Given the description of an element on the screen output the (x, y) to click on. 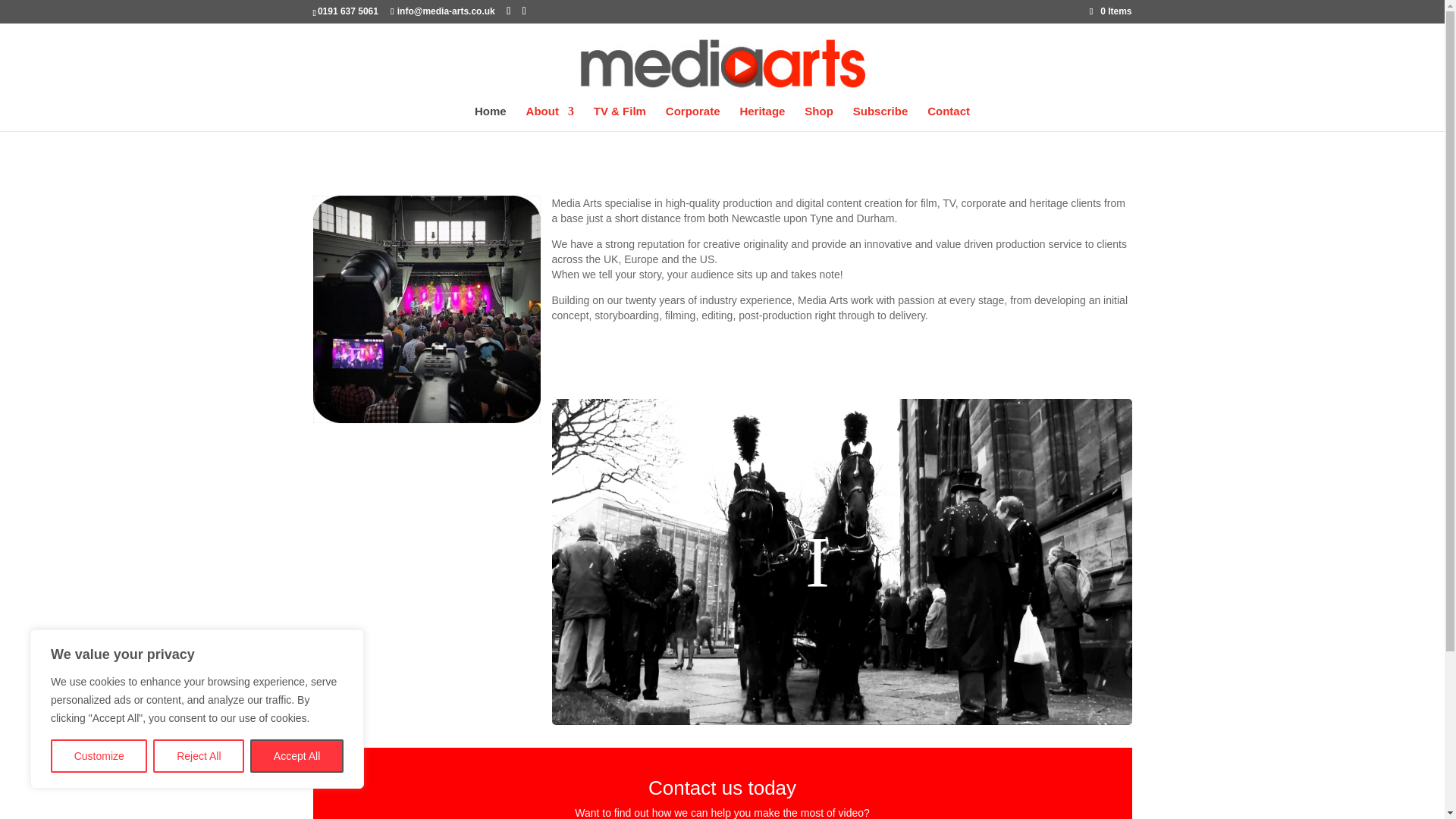
0 Items (1110, 10)
Accept All (296, 756)
Contact (948, 118)
Corporate (692, 118)
Subscribe (880, 118)
Reject All (198, 756)
Shop (818, 118)
Customize (98, 756)
About (549, 118)
Heritage (761, 118)
